Given the description of an element on the screen output the (x, y) to click on. 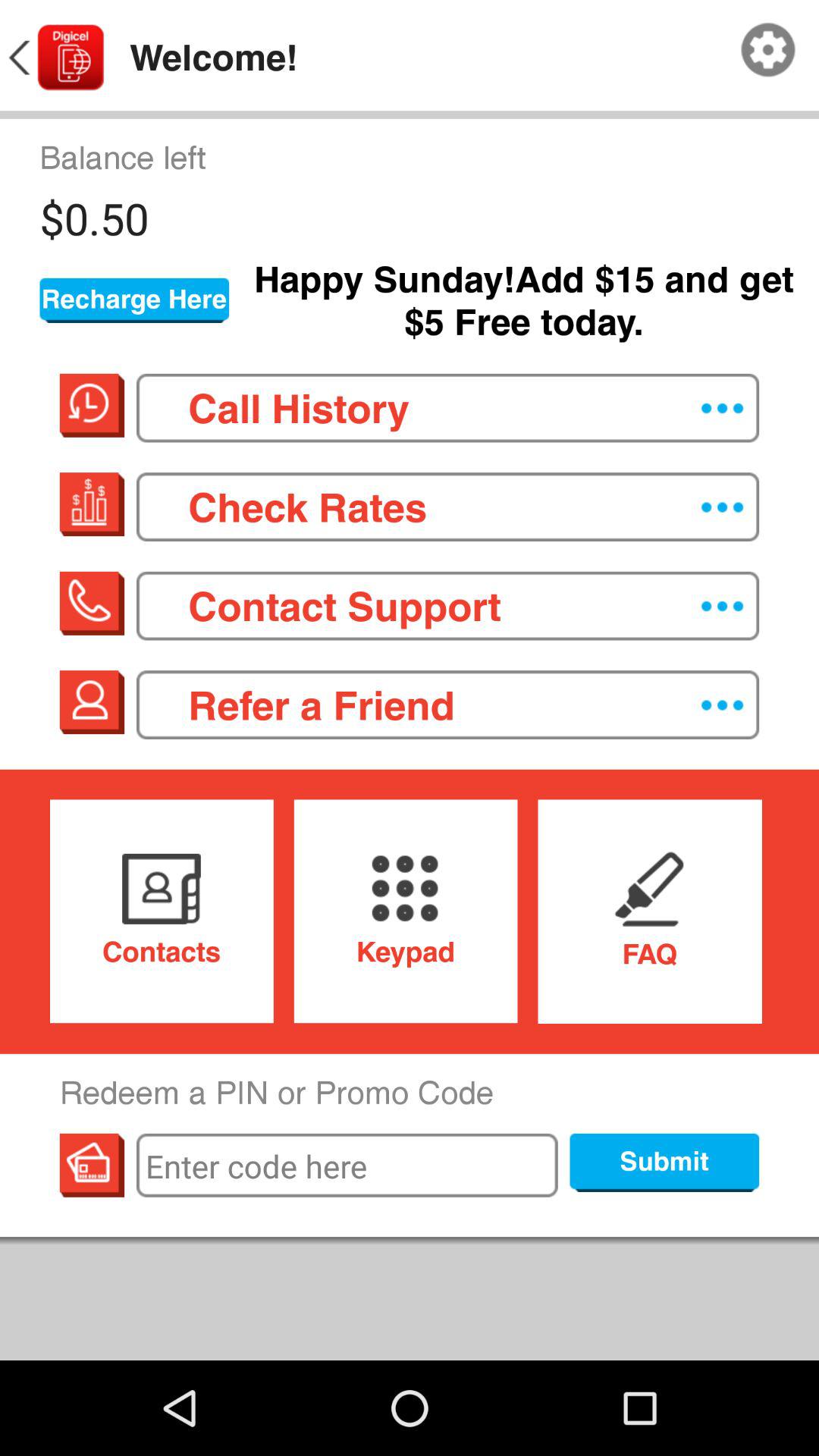
launch app to the left of welcome! icon (54, 57)
